Given the description of an element on the screen output the (x, y) to click on. 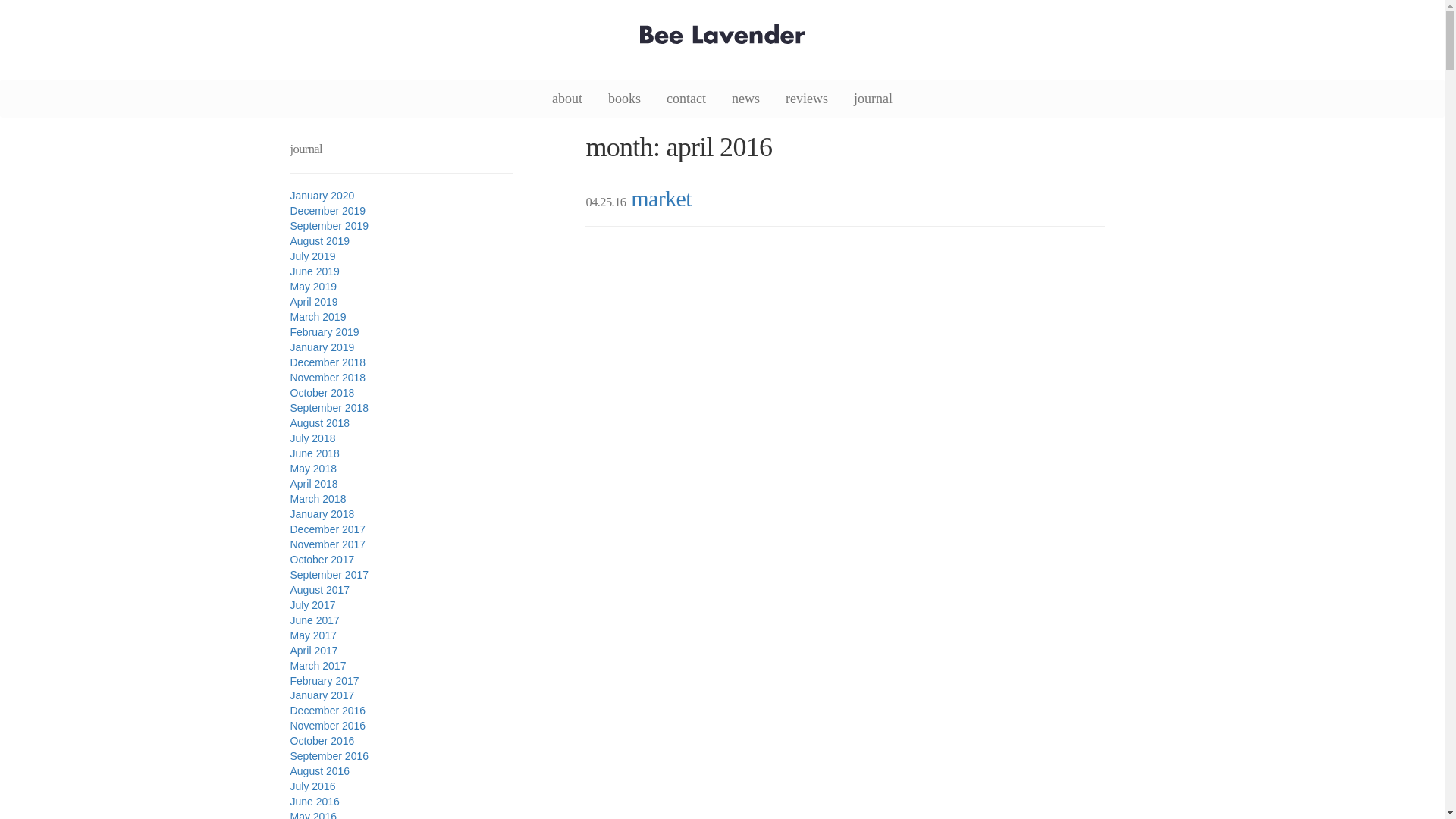
July 2019 (311, 256)
April 2019 (313, 301)
November 2018 (327, 377)
reviews (807, 96)
about (567, 96)
December 2019 (327, 210)
June 2019 (314, 271)
August 2018 (319, 422)
market (660, 197)
May 2019 (312, 286)
